Given the description of an element on the screen output the (x, y) to click on. 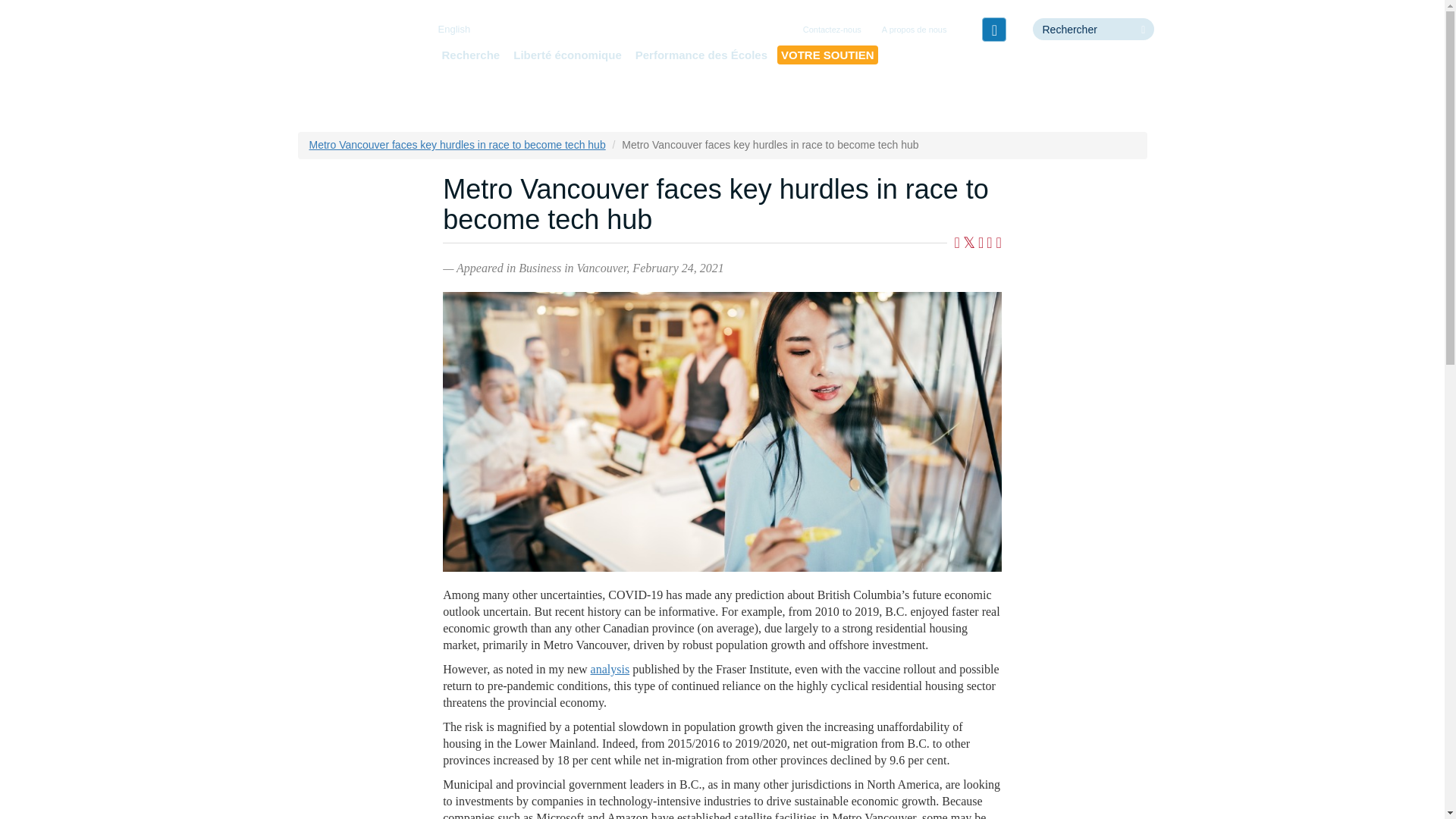
Facebook (993, 29)
VOTRE SOUTIEN (827, 54)
English (454, 29)
Recherche (470, 54)
Votre Soutien (827, 54)
A propos de nous (914, 30)
analysis (610, 668)
Contactez-nous (831, 30)
